Given the description of an element on the screen output the (x, y) to click on. 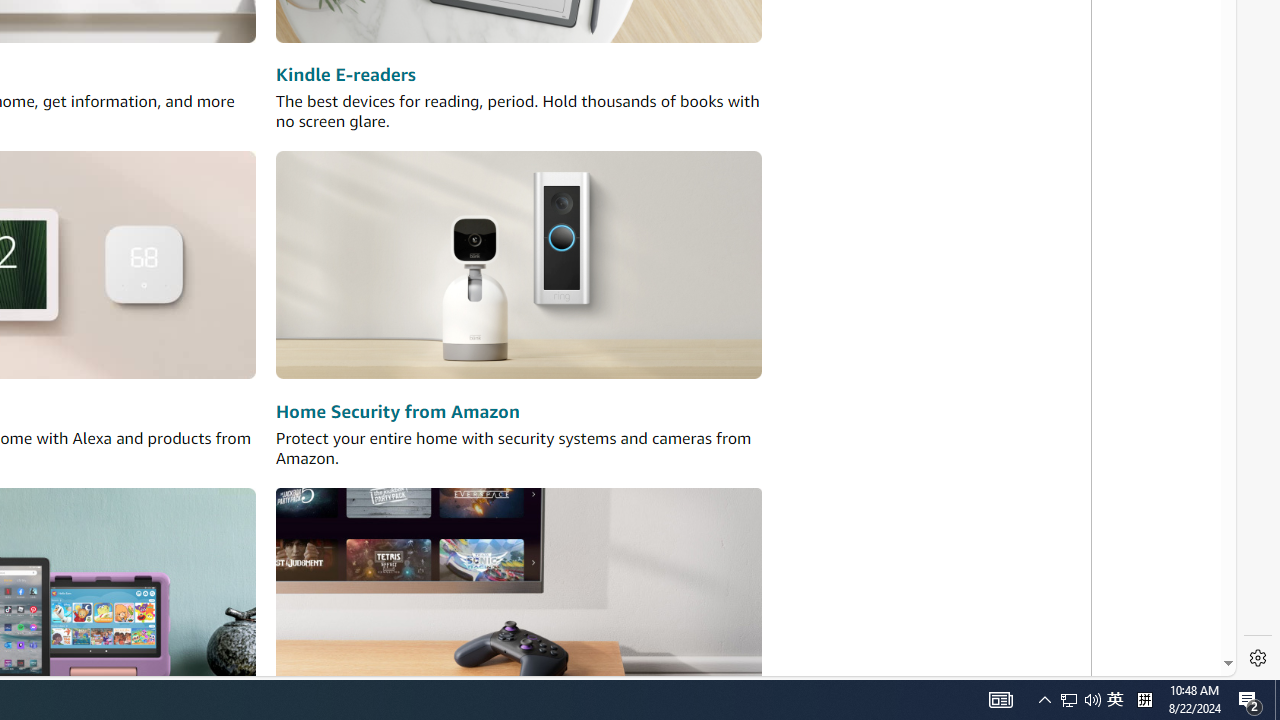
Kindle E-readers (345, 75)
Home Security devices (518, 265)
Home Security devices (518, 265)
Amazon Luna (518, 600)
Home Security from Amazon (397, 411)
Amazon Luna (518, 600)
